Given the description of an element on the screen output the (x, y) to click on. 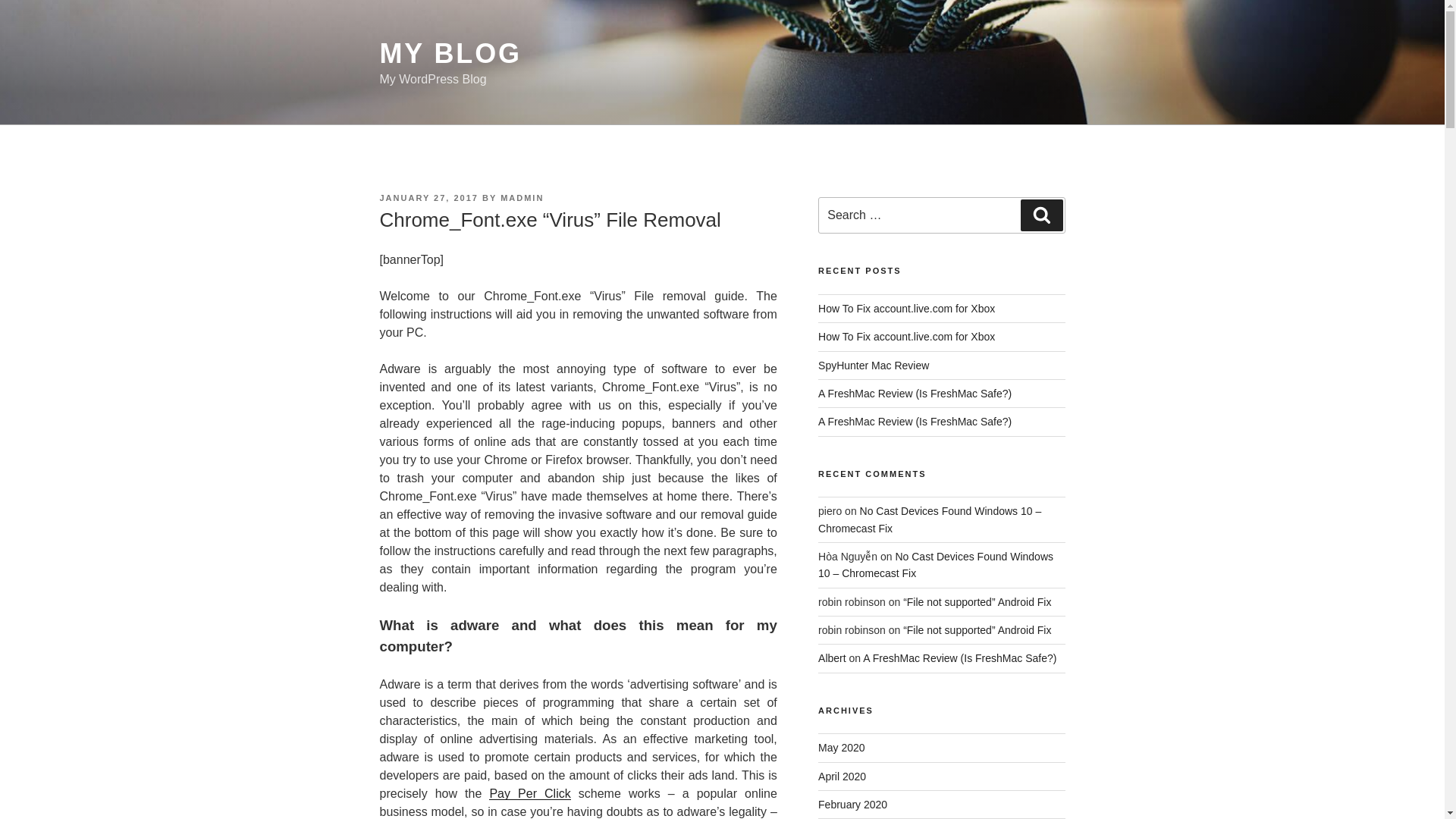
Pay Per Click (529, 793)
February 2020 (852, 804)
April 2020 (842, 776)
SpyHunter Mac Review (873, 365)
How To Fix account.live.com for Xbox (906, 308)
JANUARY 27, 2017 (427, 197)
May 2020 (841, 747)
Albert (831, 657)
Search (1041, 214)
How To Fix account.live.com for Xbox (906, 336)
